Given the description of an element on the screen output the (x, y) to click on. 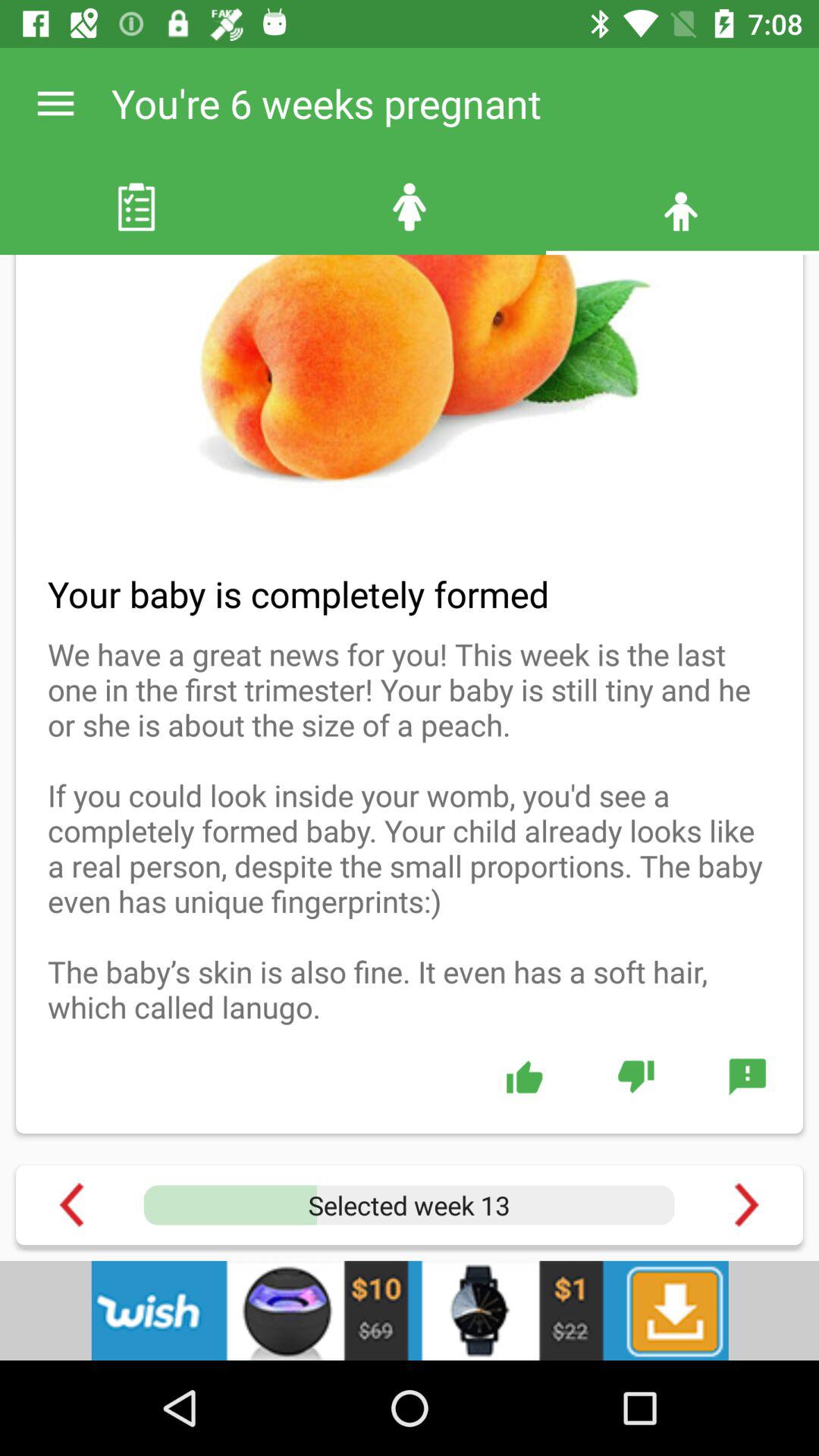
opens the advertisement (409, 1310)
